Given the description of an element on the screen output the (x, y) to click on. 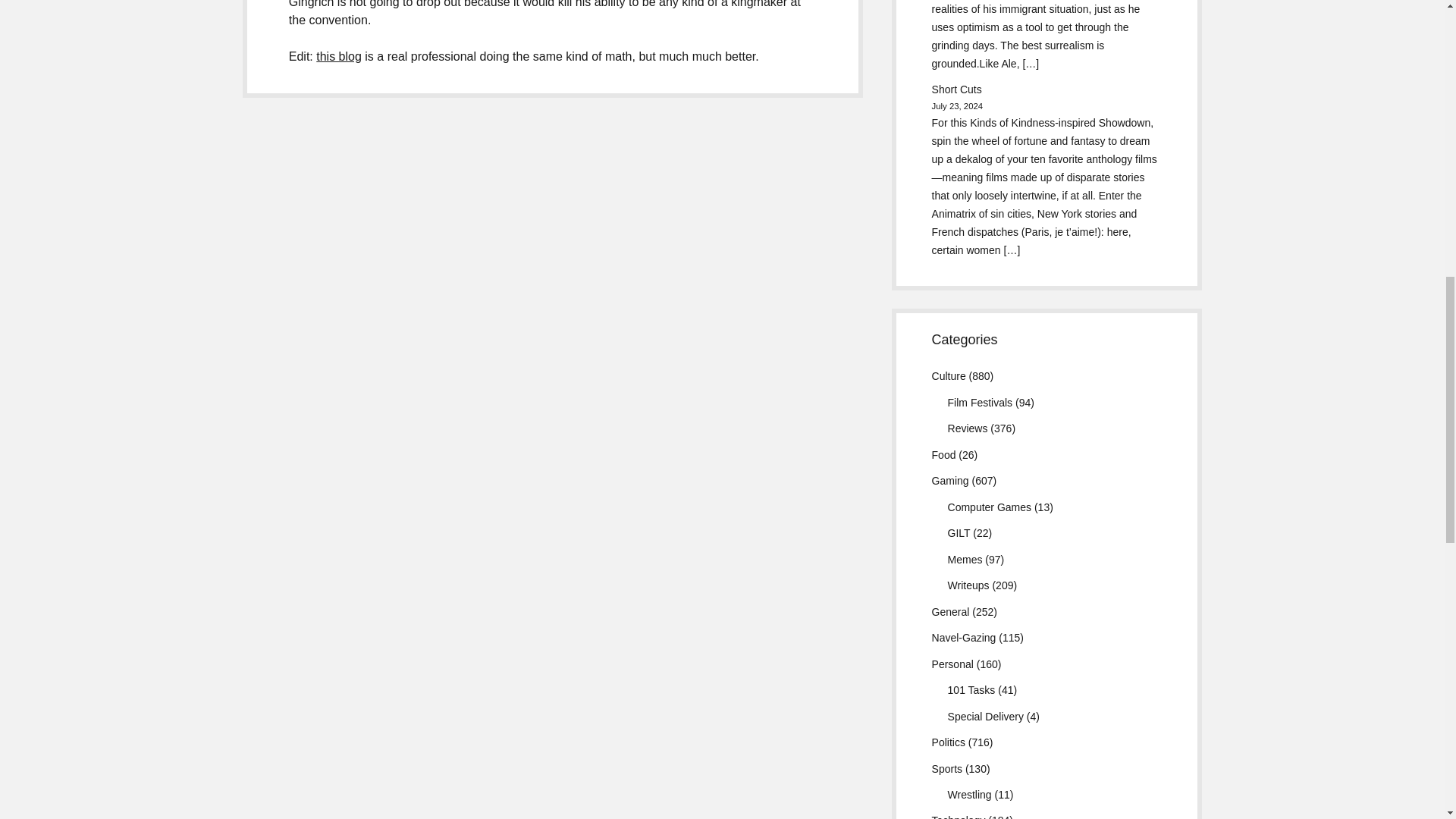
General (950, 612)
Memes (964, 559)
Special Delivery (985, 716)
Personal (952, 664)
Food (943, 454)
Reviews (967, 428)
Technology (958, 816)
Short Cuts (956, 89)
this blog (338, 56)
Gaming (950, 480)
Culture (948, 376)
Wrestling (969, 794)
101 Tasks (971, 689)
Politics (948, 742)
GILT (959, 532)
